Given the description of an element on the screen output the (x, y) to click on. 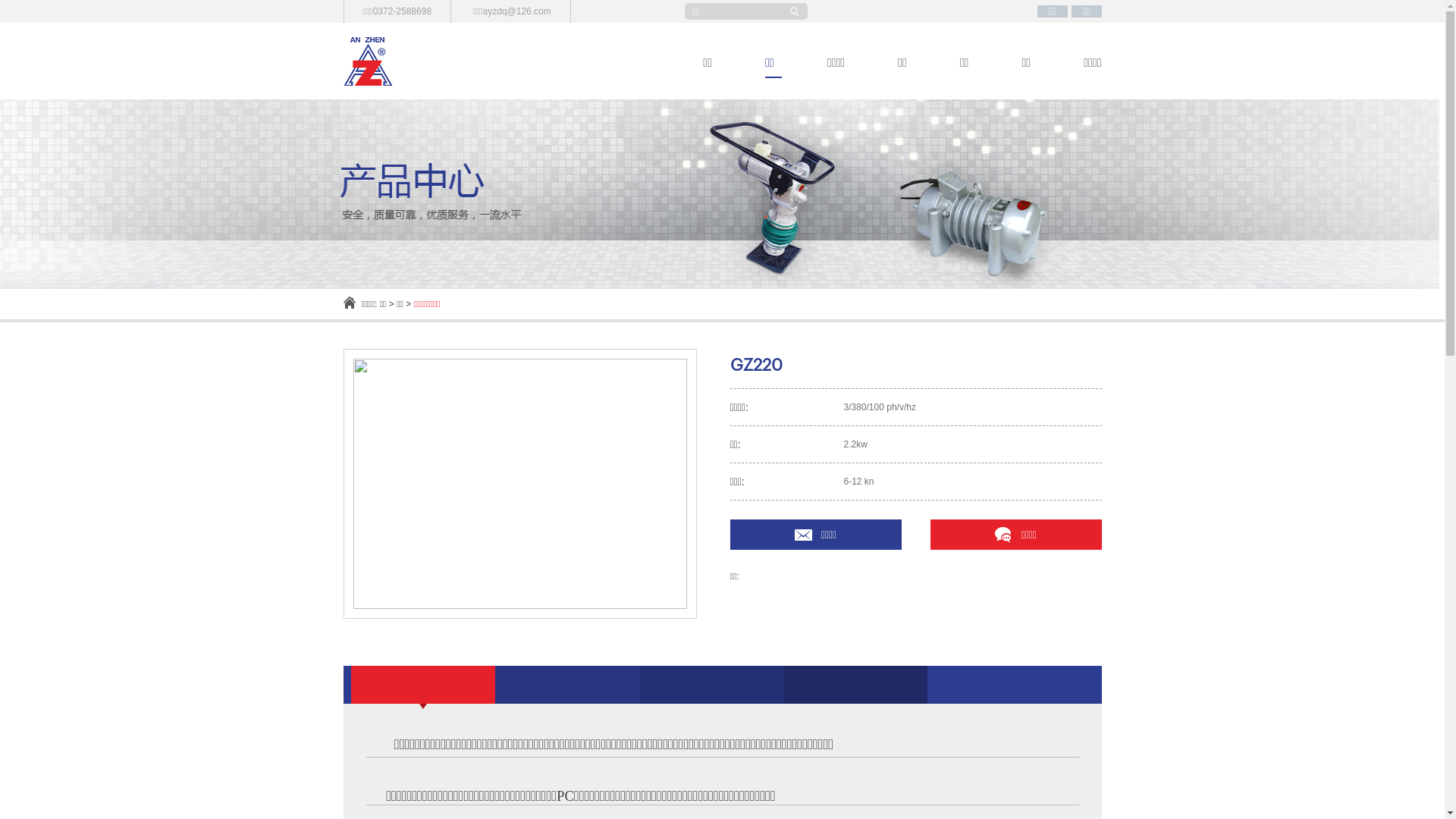
Search Element type: hover (797, 11)
